Given the description of an element on the screen output the (x, y) to click on. 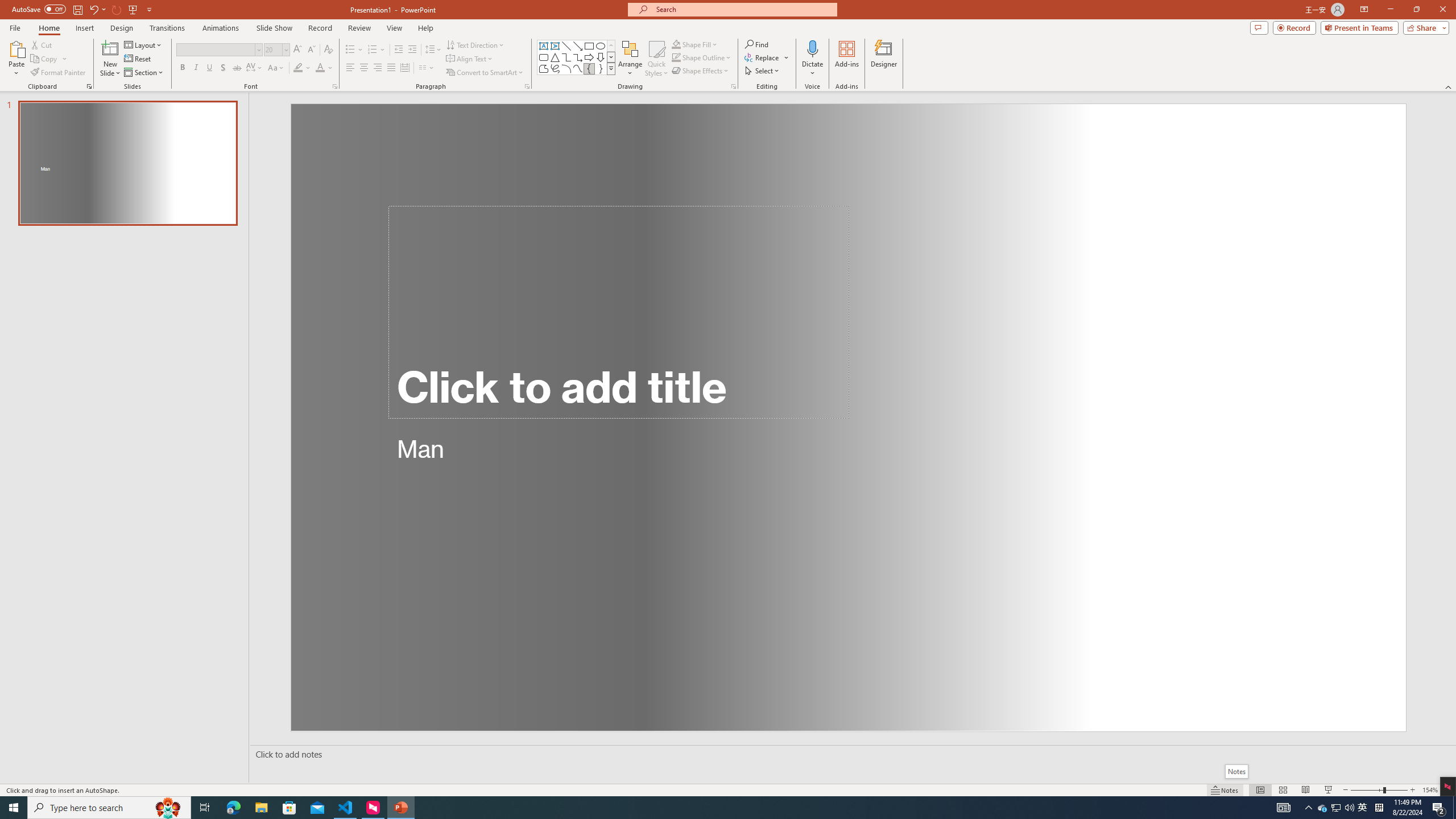
Row up (611, 45)
Section (144, 72)
Distributed (404, 67)
Copy (49, 58)
Freeform: Scribble (554, 68)
Arc (566, 68)
Columns (426, 67)
Line Arrow (577, 45)
Vertical Text Box (554, 45)
Curve (577, 68)
Microsoft search (742, 9)
Shape Effects (700, 69)
